Given the description of an element on the screen output the (x, y) to click on. 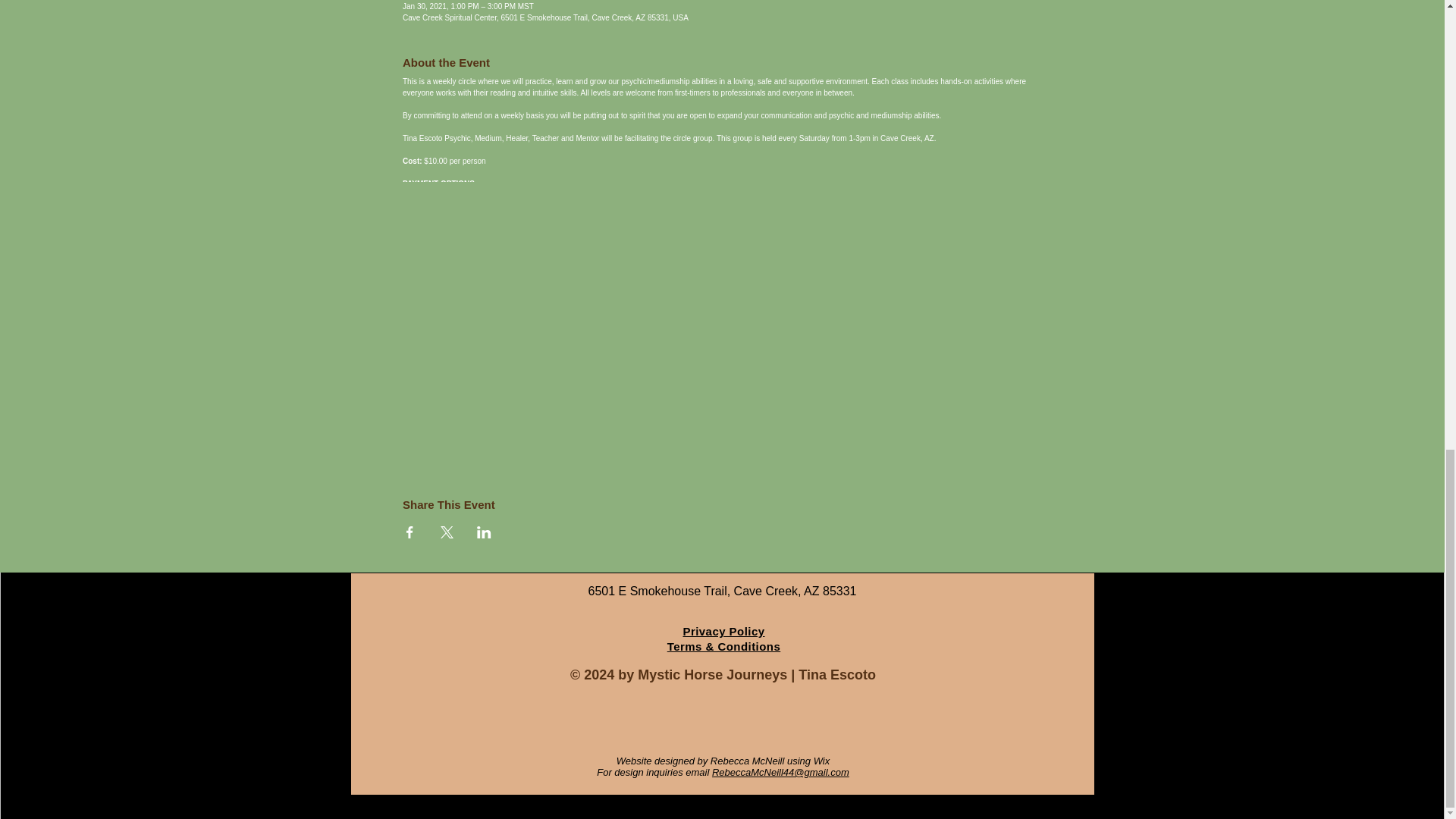
Privacy Policy (723, 631)
Rebecca McNeill using Wix (769, 760)
